Given the description of an element on the screen output the (x, y) to click on. 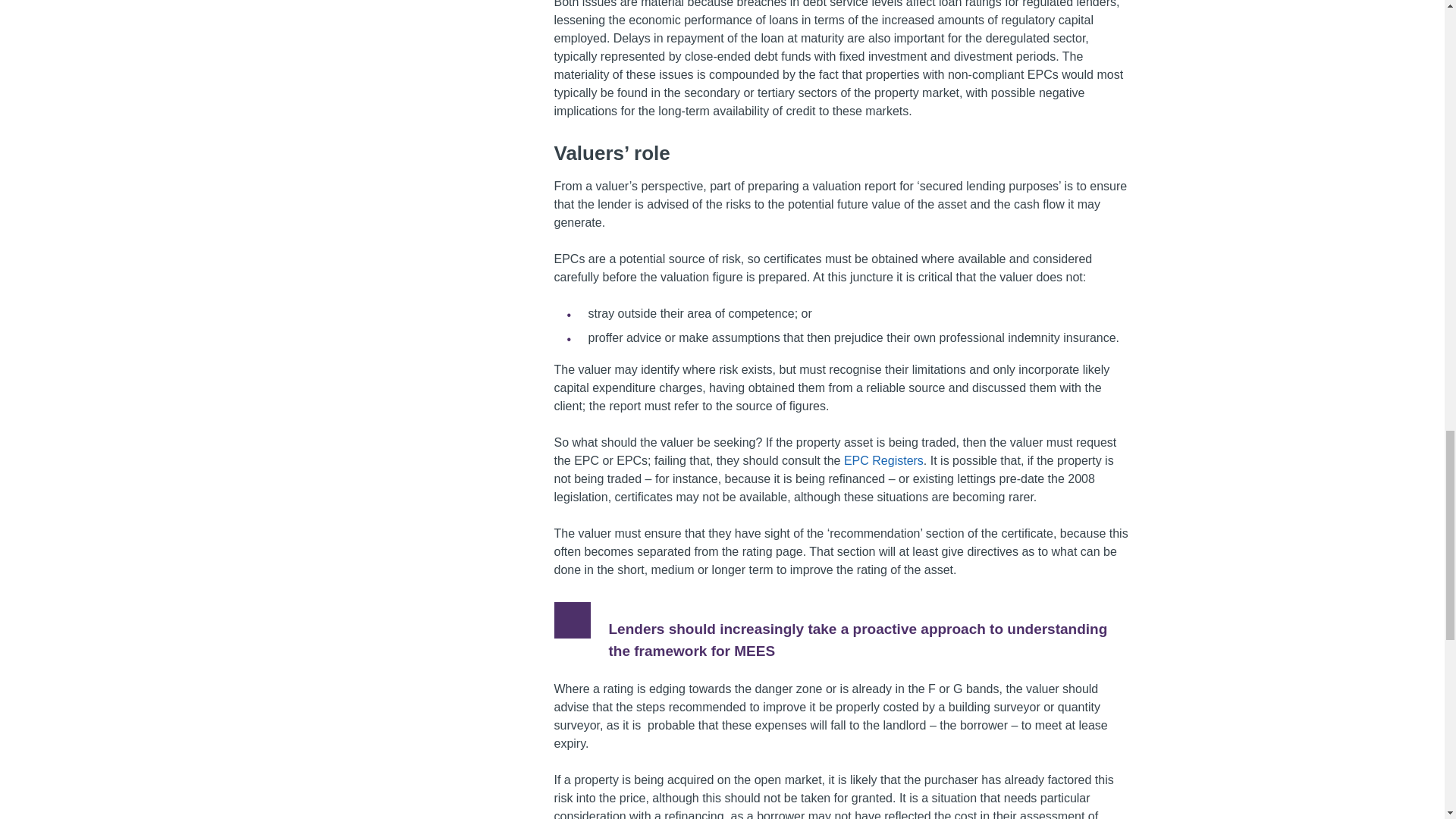
EPC Registers (883, 459)
